Given the description of an element on the screen output the (x, y) to click on. 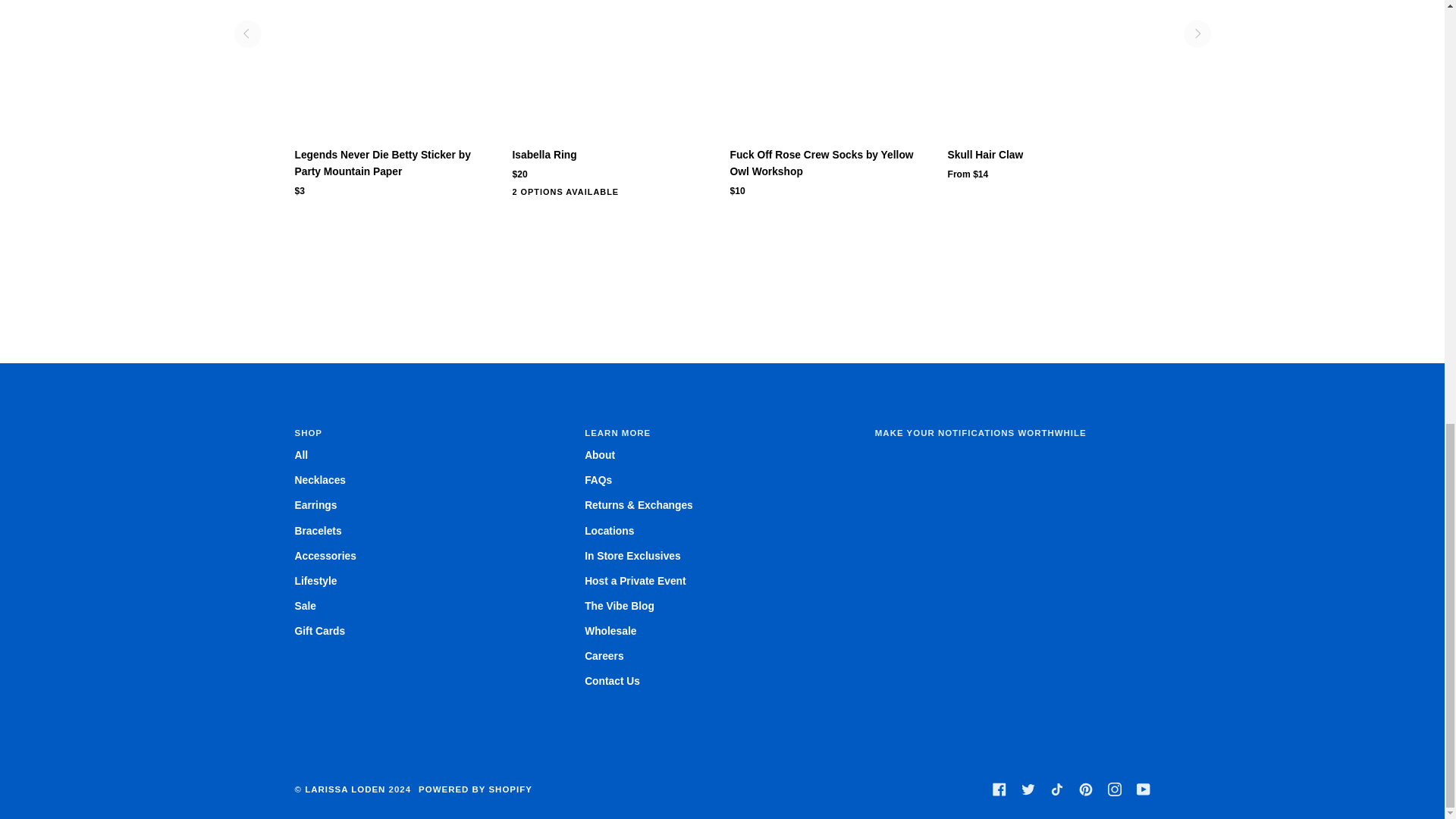
YouTube (1142, 789)
Twitter (1026, 789)
Pinterest (1085, 789)
Facebook (998, 789)
Instagram (1113, 789)
Tiktok (1055, 789)
